Given the description of an element on the screen output the (x, y) to click on. 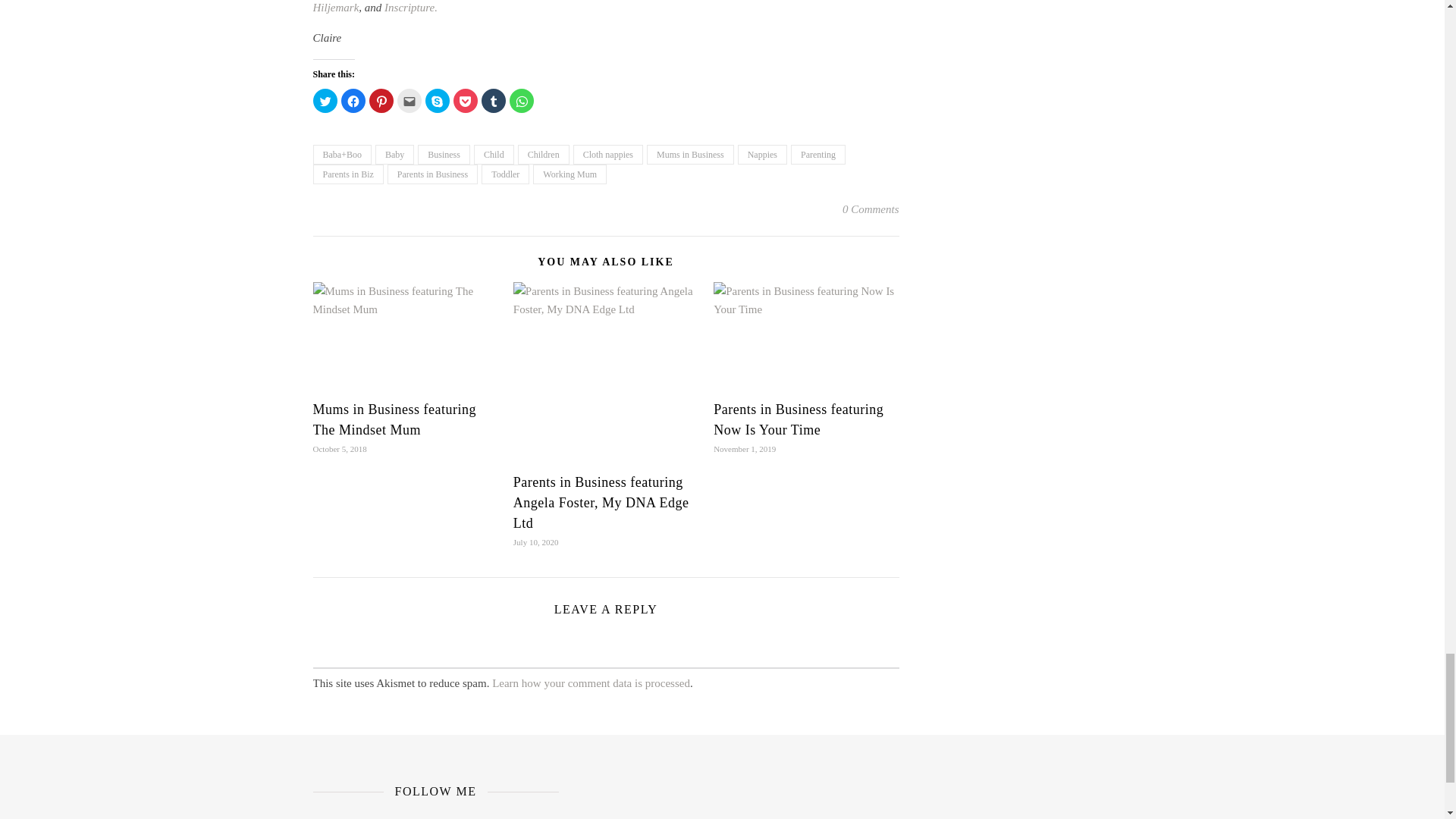
Click to share on WhatsApp (521, 100)
Click to share on Tumblr (492, 100)
Click to share on Skype (436, 100)
Click to share on Pinterest (380, 100)
Click to share on Twitter (324, 100)
Zoe Hiljemark (605, 7)
Inscripture. (411, 7)
Click to email this to a friend (409, 100)
Click to share on Facebook (352, 100)
Click to share on Pocket (464, 100)
